Given the description of an element on the screen output the (x, y) to click on. 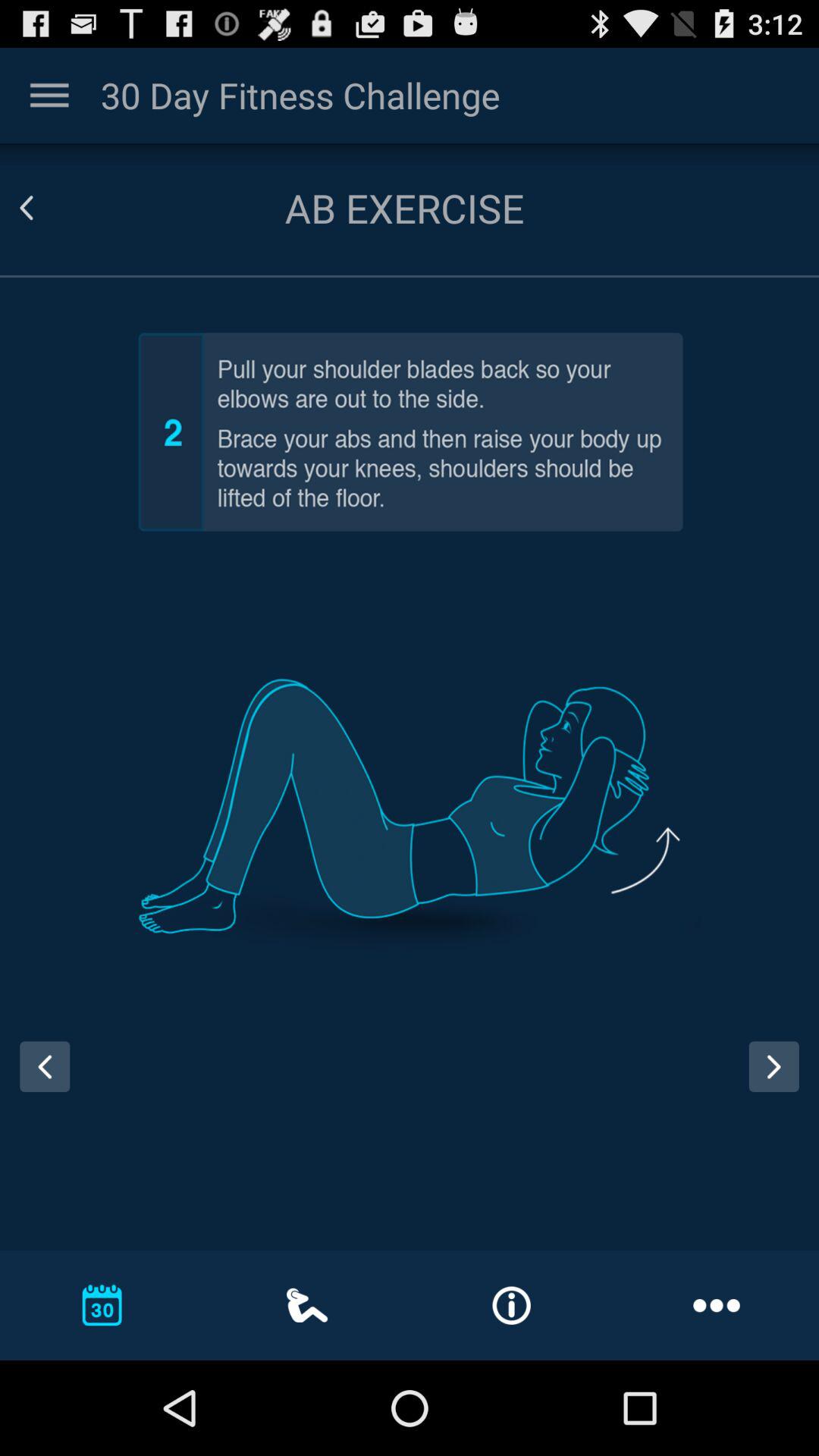
go to previous (44, 1066)
